Given the description of an element on the screen output the (x, y) to click on. 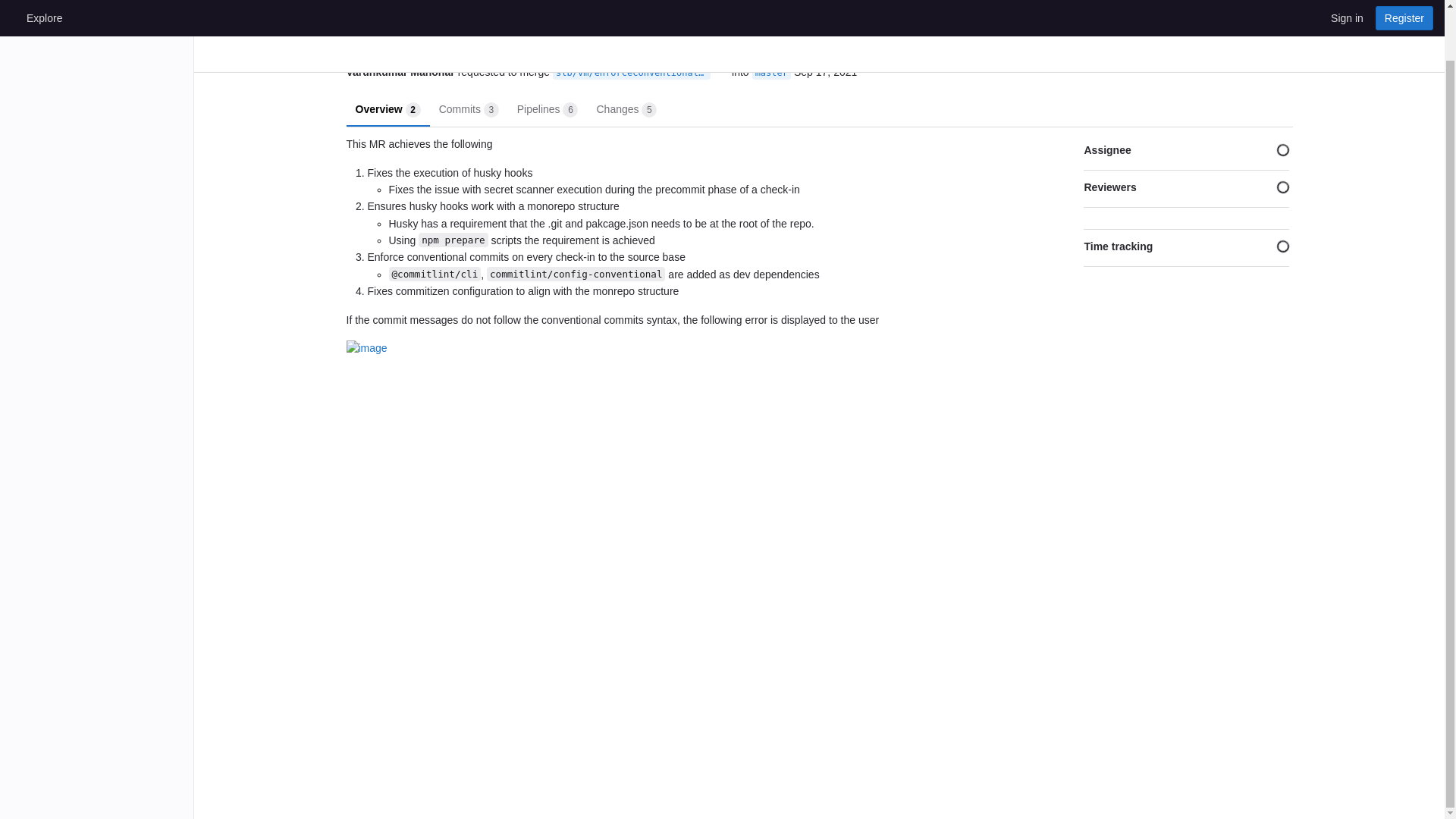
master (771, 72)
Varunkumar Manohar (548, 108)
master (400, 72)
Code (468, 108)
Sep 17, 2021 4:21am (771, 72)
